Given the description of an element on the screen output the (x, y) to click on. 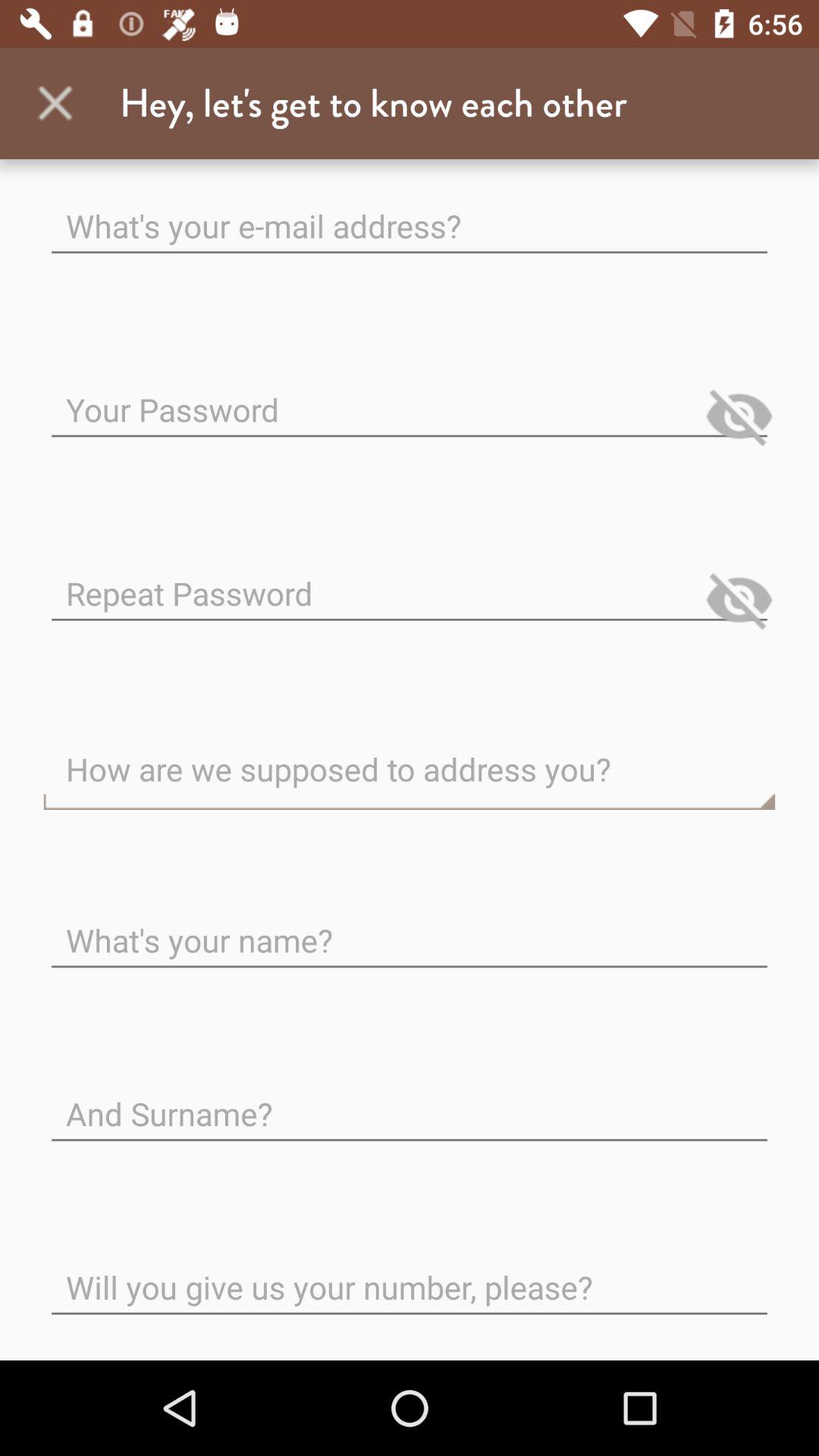
password entry (409, 397)
